Given the description of an element on the screen output the (x, y) to click on. 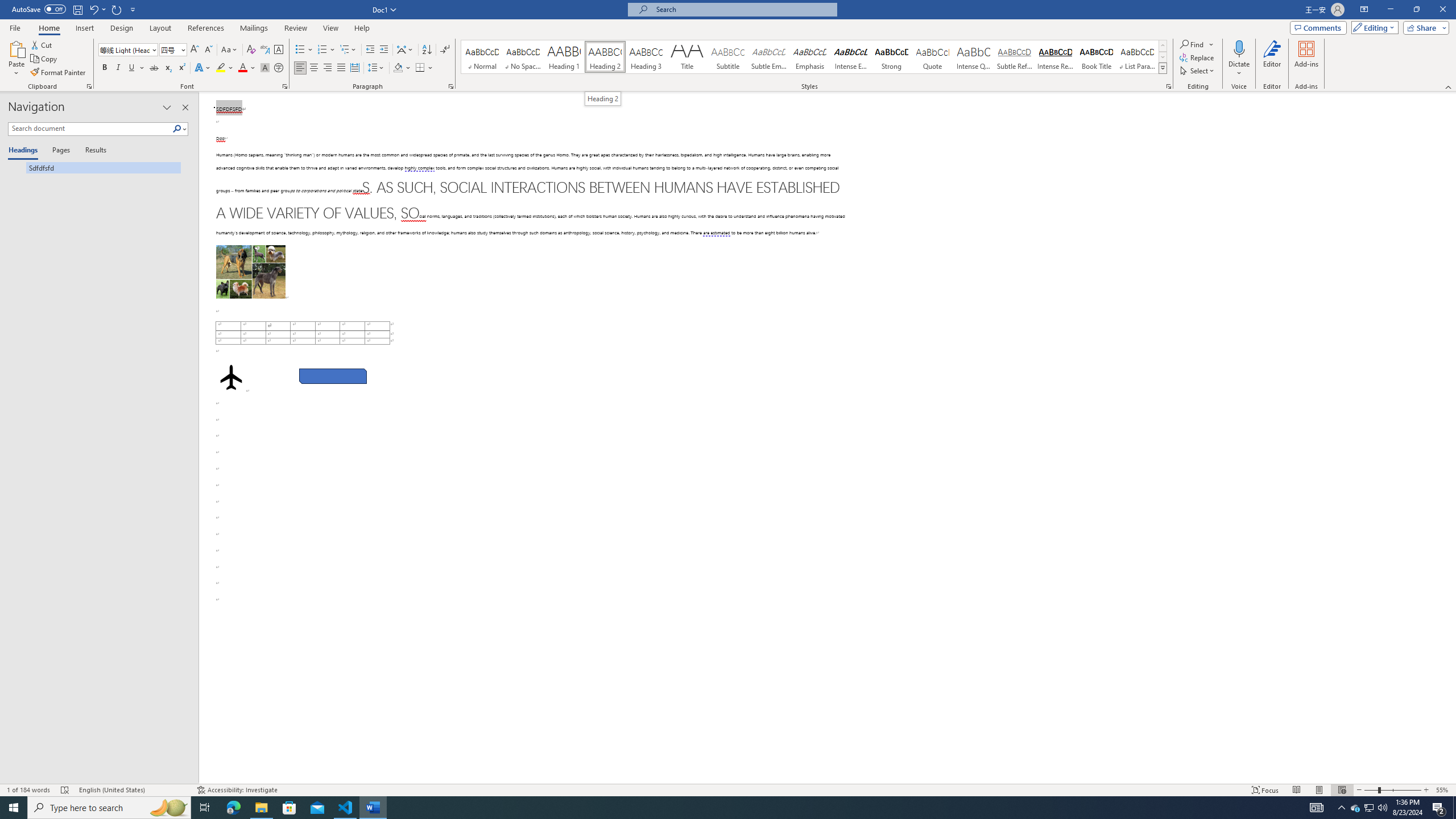
Microsoft search (742, 9)
Heading 1 (564, 56)
Phonetic Guide... (264, 49)
Results (91, 150)
Increase Indent (383, 49)
Text Highlight Color (224, 67)
Pages (59, 150)
Repeat Style (117, 9)
Text Highlight Color Yellow (220, 67)
